Given the description of an element on the screen output the (x, y) to click on. 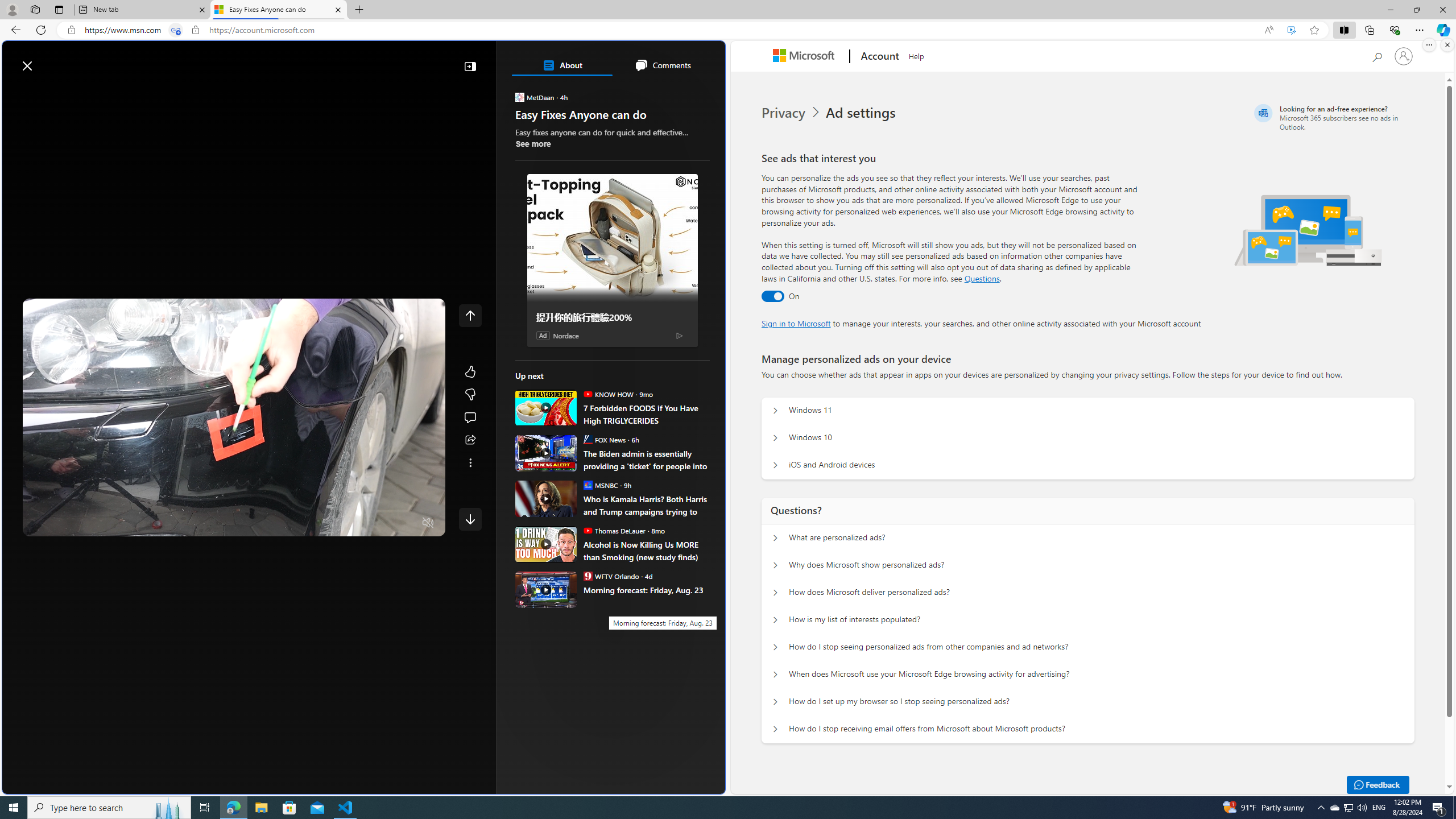
Looking for an ad-free experience? (1331, 117)
FOX News (587, 438)
Questions? How does Microsoft deliver personalized ads? (775, 592)
Progress Bar (234, 508)
MetDaan (519, 96)
MSNBC MSNBC (600, 484)
Enhance video (1291, 29)
